Given the description of an element on the screen output the (x, y) to click on. 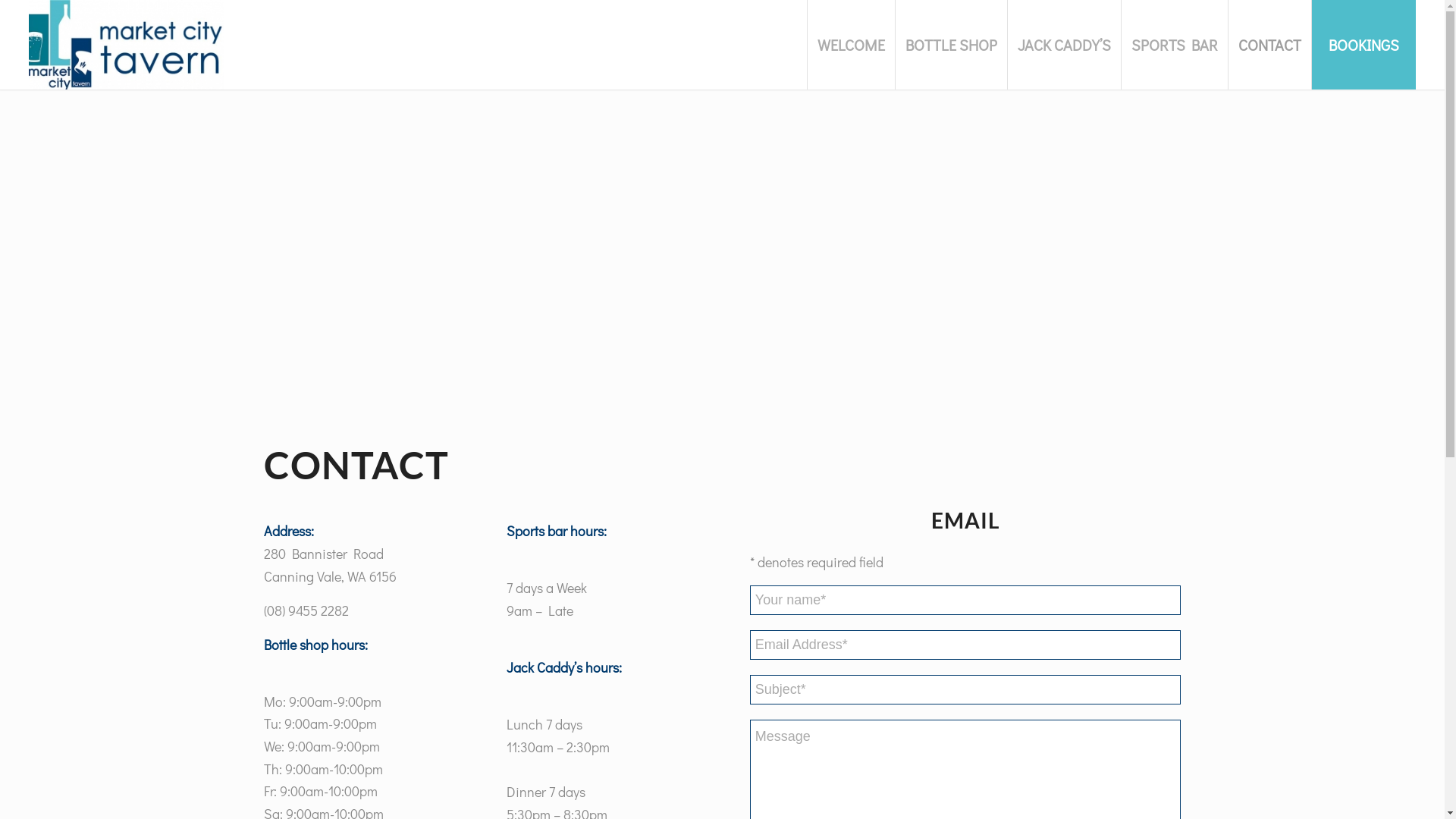
BOOKINGS Element type: text (1363, 44)
BOTTLE SHOP Element type: text (950, 44)
WELCOME Element type: text (850, 44)
SPORTS BAR Element type: text (1173, 44)
CONTACT Element type: text (1269, 44)
